Given the description of an element on the screen output the (x, y) to click on. 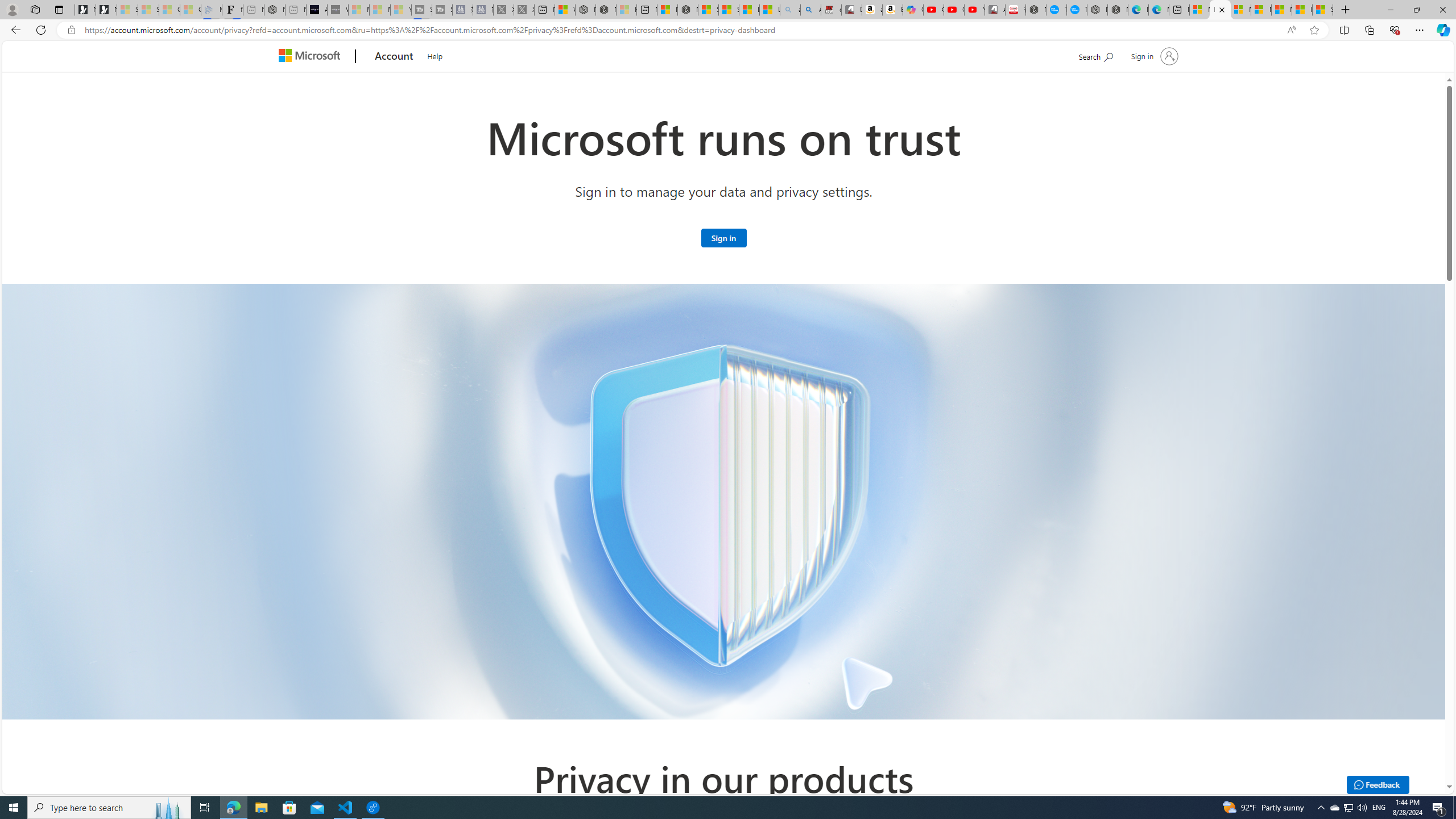
Amazon Echo Dot PNG - Search Images (809, 9)
Microsoft (311, 56)
Newsletter Sign Up (106, 9)
X - Sleeping (523, 9)
Copilot (913, 9)
Sign in to your Microsoft account (723, 237)
amazon.in/dp/B0CX59H5W7/?tag=gsmcom05-21 (871, 9)
Microsoft account | Privacy (1261, 9)
Microsoft account | Microsoft Account Privacy Settings (1219, 9)
